Given the description of an element on the screen output the (x, y) to click on. 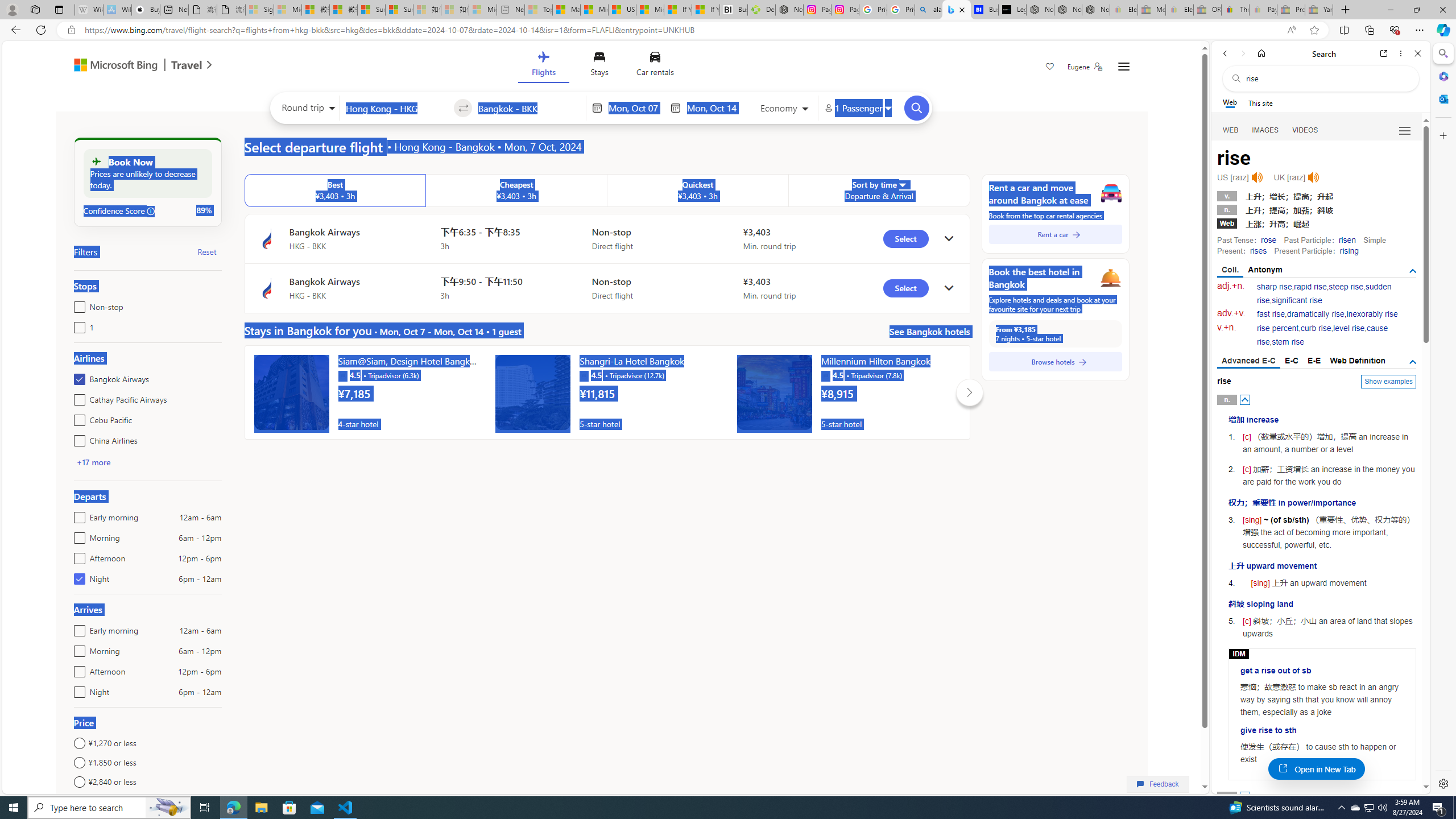
dramatically rise (1315, 313)
rapid rise (1310, 286)
China Airlines (76, 438)
VIDEOS (1304, 130)
Leaving from? (396, 107)
